Given the description of an element on the screen output the (x, y) to click on. 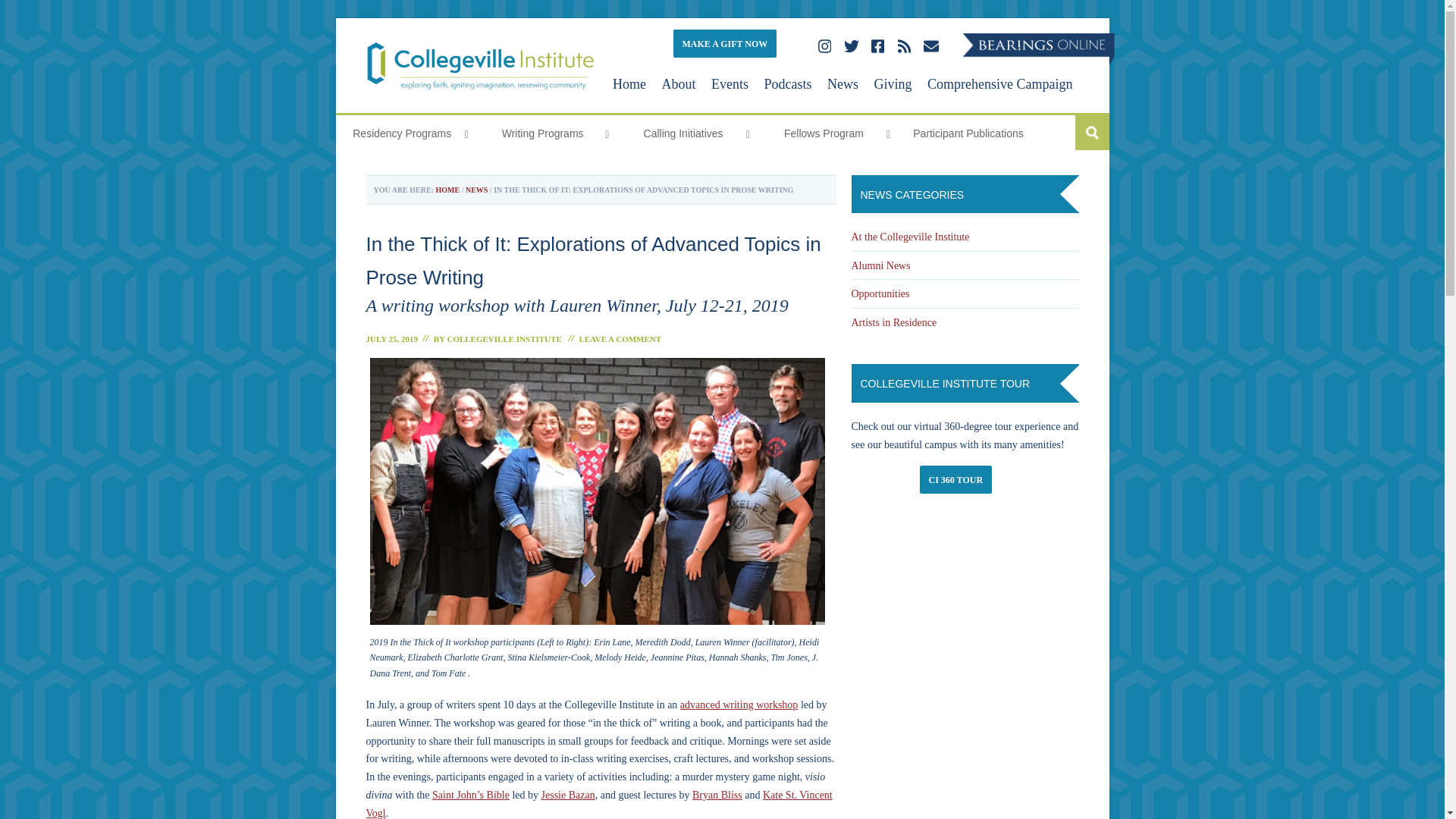
Residency Programs (405, 133)
News (842, 84)
View all posts filed under At the Collegeville Institute (909, 236)
View all posts filed under Opportunities (879, 293)
MAKE A GIFT NOW (724, 43)
News (842, 84)
Home (629, 84)
Events (729, 84)
Events (729, 84)
About (678, 84)
Comprehensive Campaign (999, 84)
View all posts filed under Artists in Residence (893, 322)
Podcasts (788, 84)
Giving (892, 84)
